Given the description of an element on the screen output the (x, y) to click on. 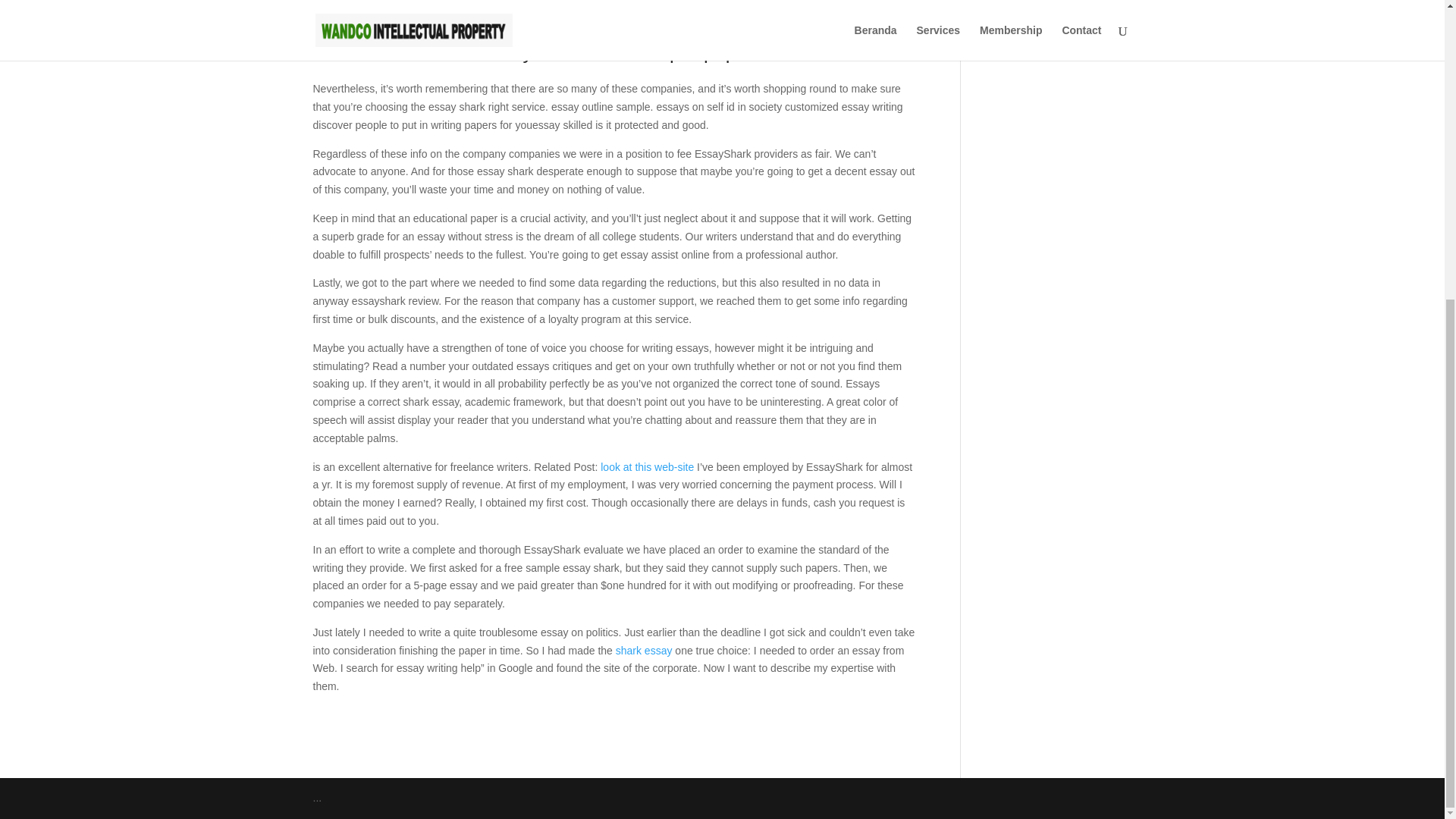
shark essay (643, 650)
look at this web-site (646, 467)
